Given the description of an element on the screen output the (x, y) to click on. 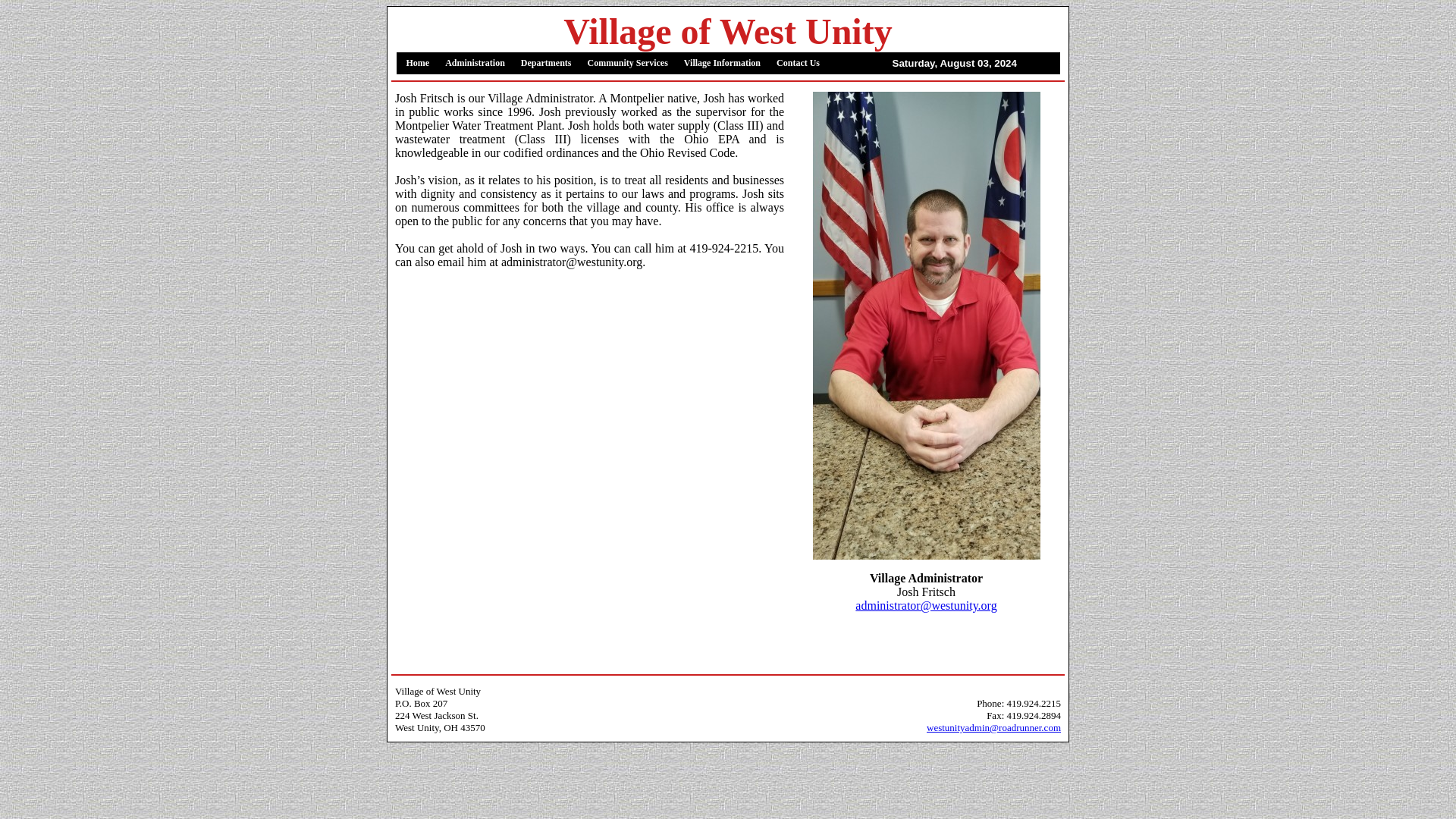
Contact Us (797, 63)
Home (418, 63)
Community Services (627, 63)
Village Information (722, 63)
Departments (546, 63)
Administration (475, 63)
